Given the description of an element on the screen output the (x, y) to click on. 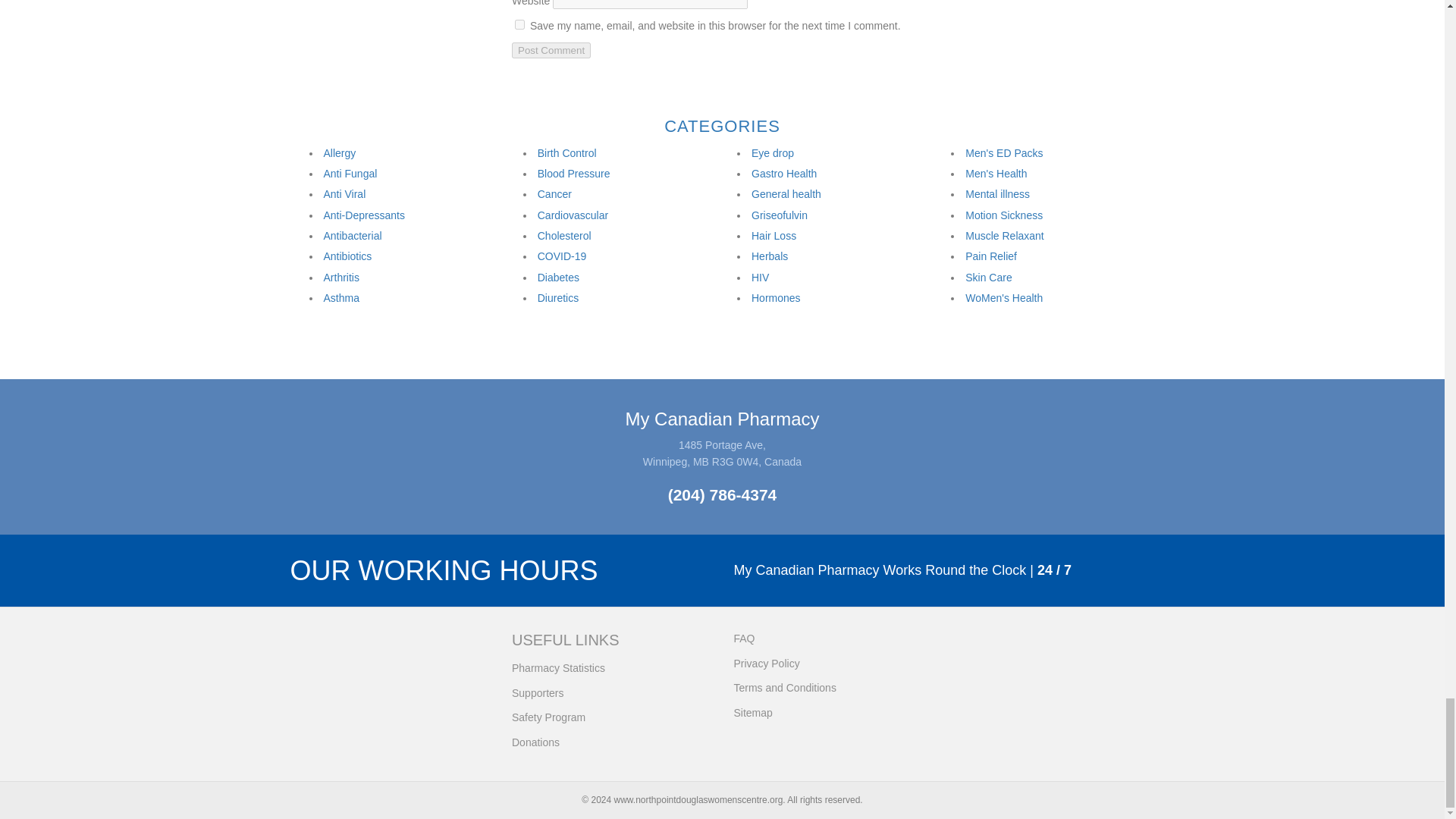
Post Comment (551, 50)
Post Comment (551, 50)
yes (519, 24)
